Given the description of an element on the screen output the (x, y) to click on. 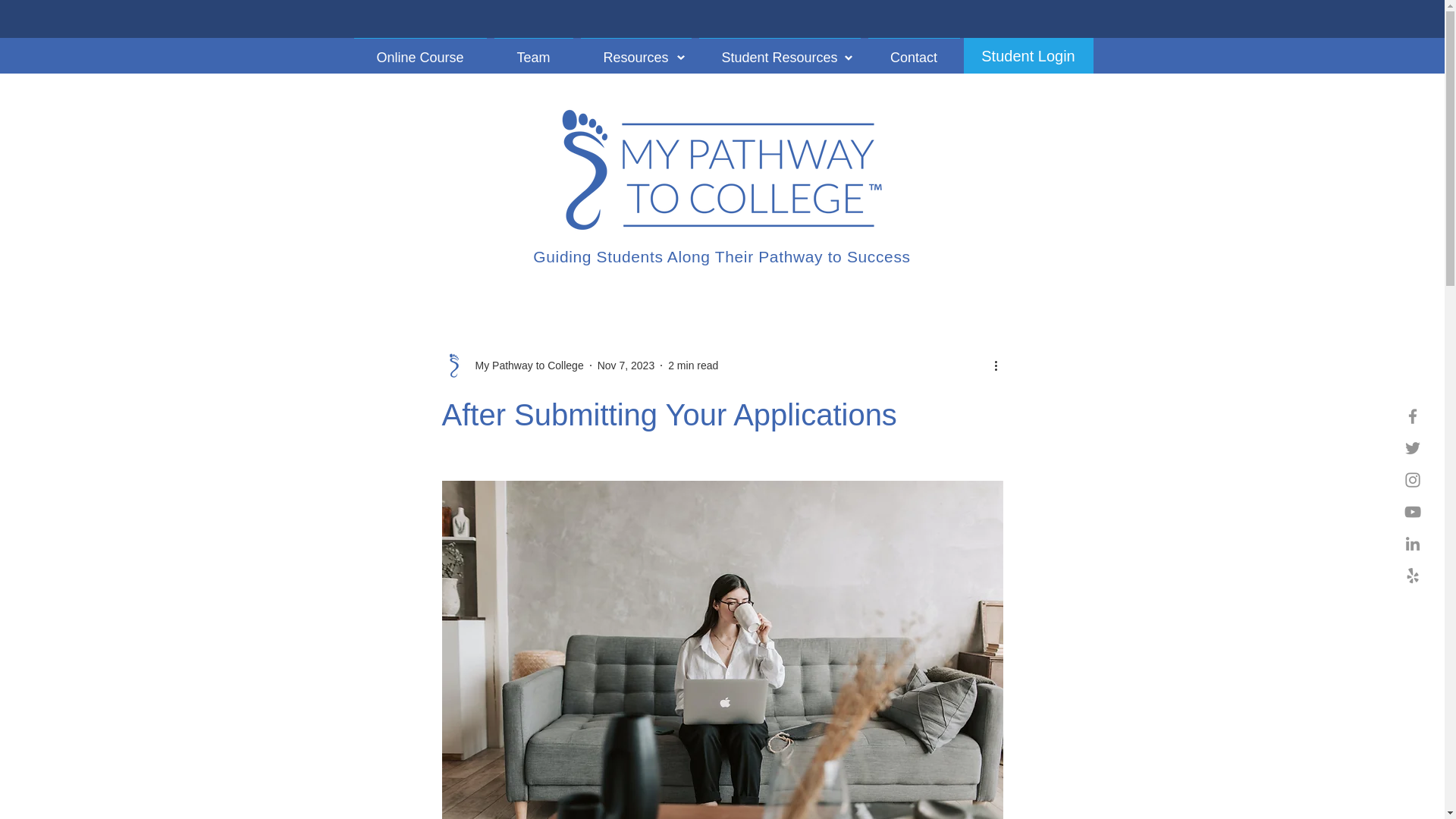
My Pathway to College (512, 364)
My Pathway to College (524, 365)
Resources (635, 50)
2 min read (692, 365)
Online Course (420, 50)
Nov 7, 2023 (625, 365)
Student Login (1027, 55)
Team (532, 50)
Contact (913, 50)
